Given the description of an element on the screen output the (x, y) to click on. 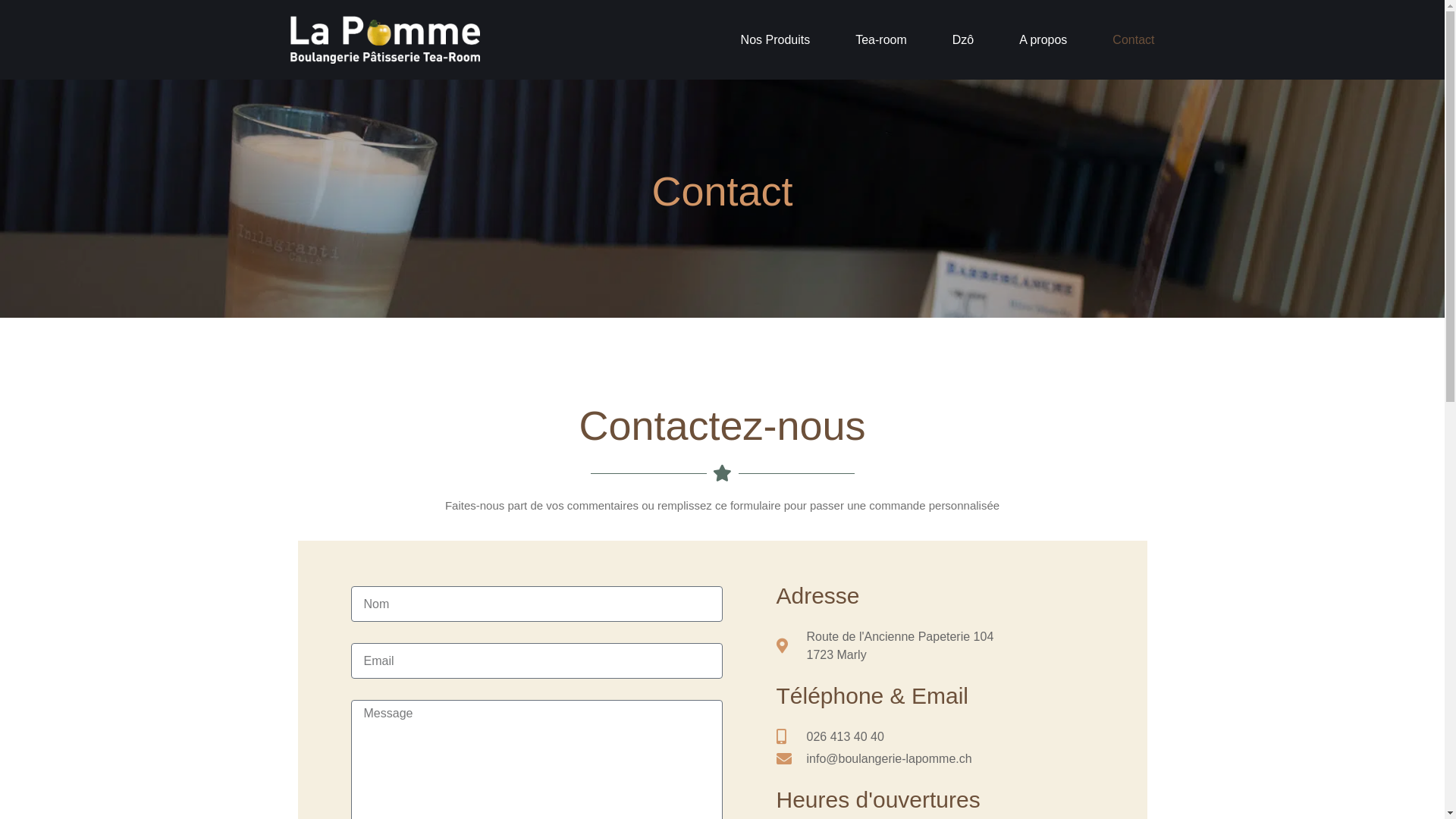
Contact Element type: text (1133, 39)
A propos Element type: text (1042, 39)
Tea-room Element type: text (880, 39)
026 413 40 40 Element type: text (929, 737)
info@boulangerie-lapomme.ch Element type: text (929, 758)
Nos Produits Element type: text (775, 39)
